Given the description of an element on the screen output the (x, y) to click on. 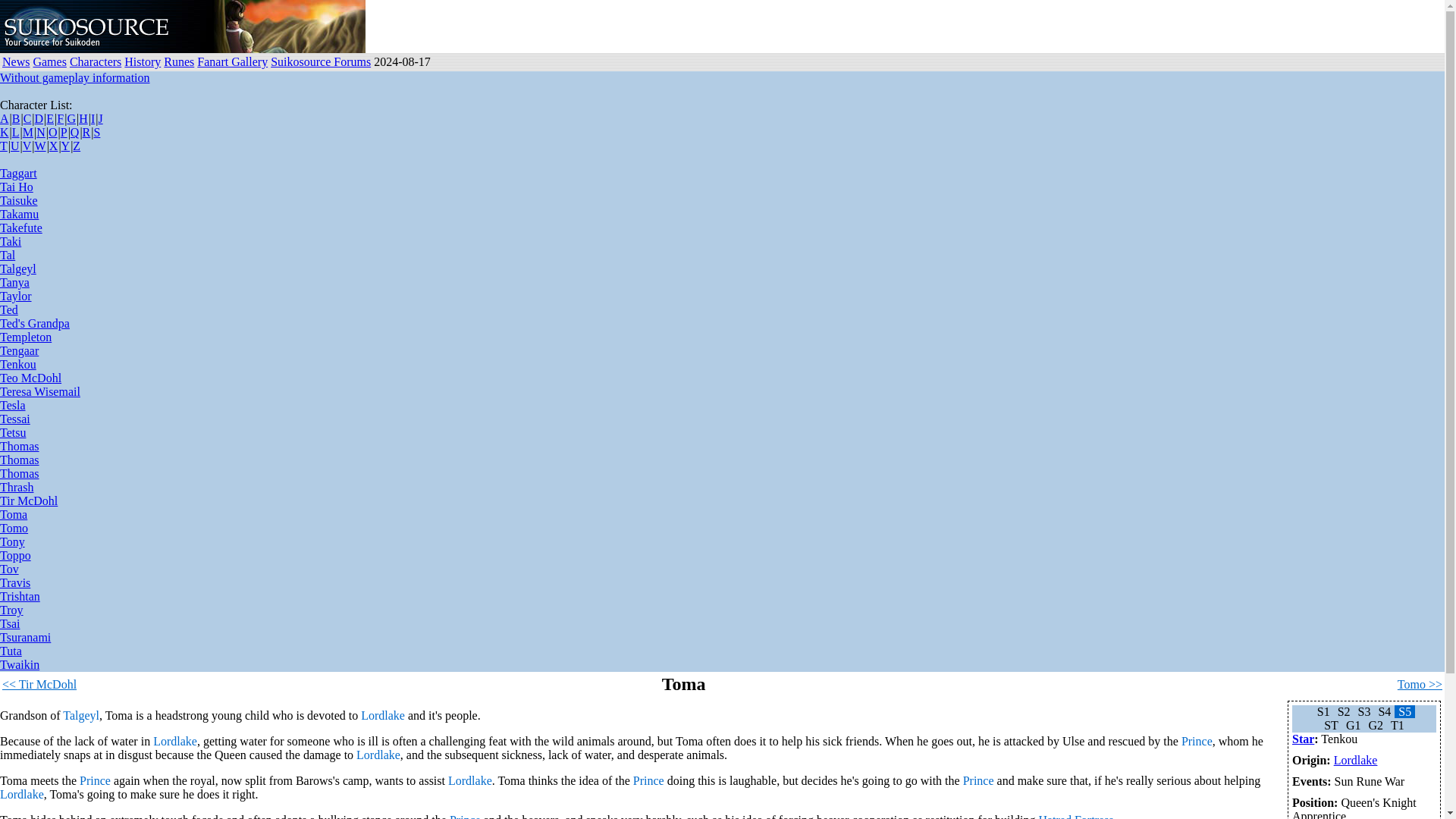
Fanart Gallery (231, 61)
Taisuke (18, 200)
Games (48, 61)
Tai Ho (16, 186)
Takamu (19, 214)
Characters (94, 61)
Taggart (18, 173)
Suikosource Forums (320, 61)
Takefute (21, 227)
Runes (178, 61)
